Given the description of an element on the screen output the (x, y) to click on. 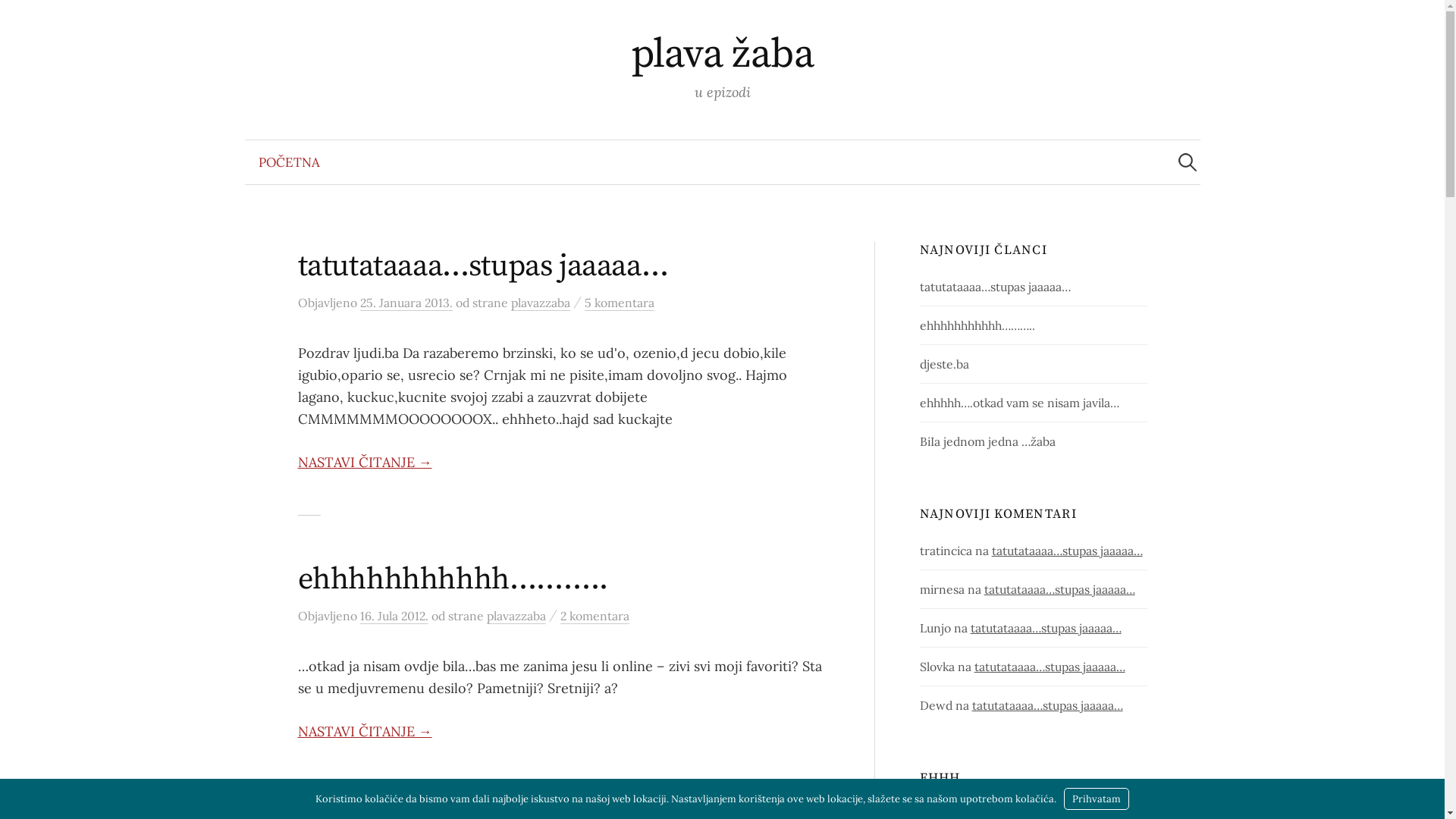
Prihvatam Element type: text (1096, 798)
plavazzaba Element type: text (540, 302)
plavazzaba Element type: text (516, 616)
djeste.ba Element type: text (944, 363)
16. Jula 2012. Element type: text (393, 616)
25. Januara 2013. Element type: text (405, 302)
Pretraga Element type: text (18, 18)
